Given the description of an element on the screen output the (x, y) to click on. 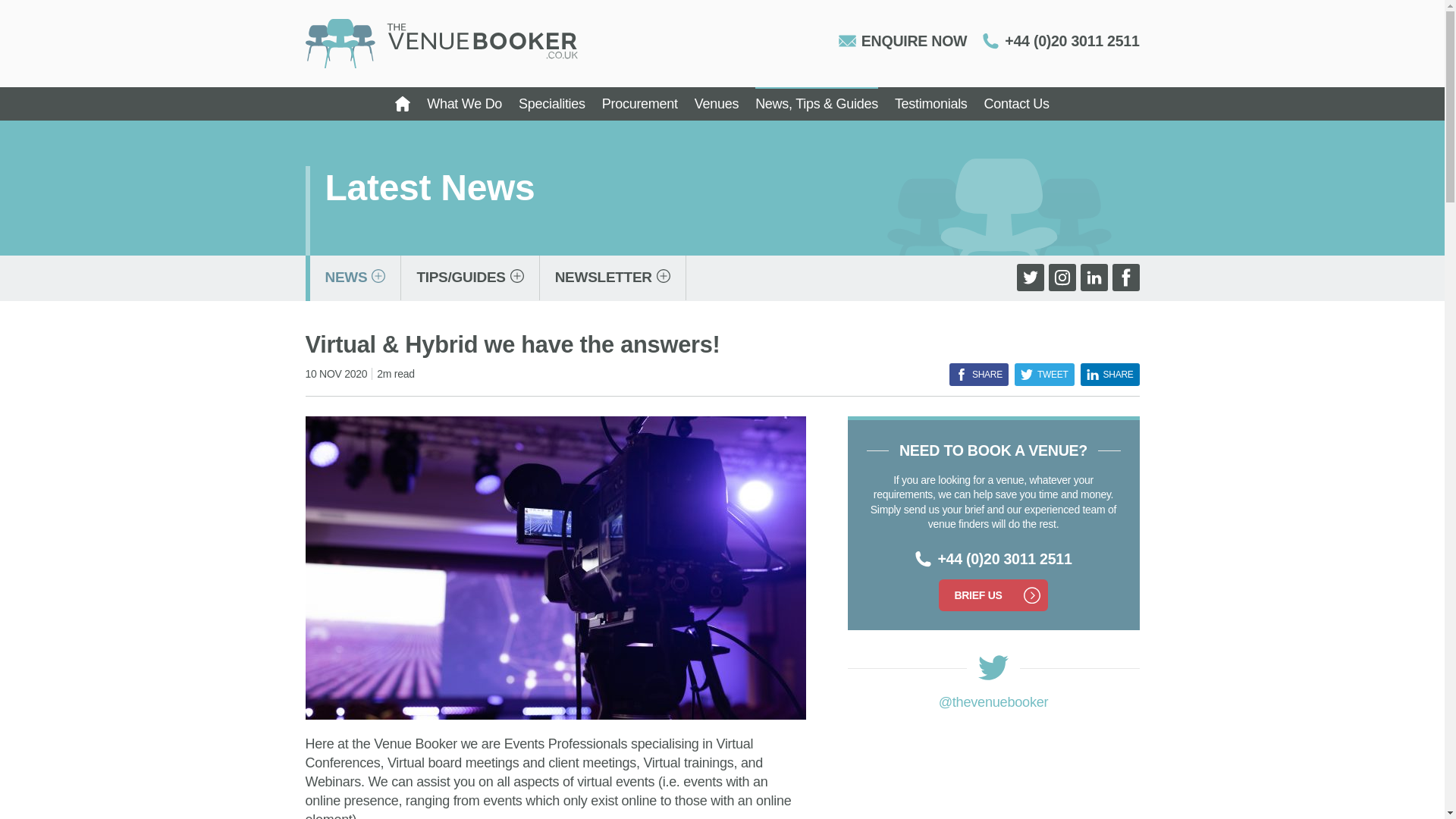
NEWSLETTER (612, 277)
ENQUIRE NOW (903, 40)
Procurement (640, 103)
What We Do (464, 103)
Venues (716, 103)
Home (402, 103)
NEWS (354, 277)
Specialities (551, 103)
Contact Us (1016, 103)
SHARE (979, 374)
TWEET (1044, 374)
Testimonials (931, 103)
